Given the description of an element on the screen output the (x, y) to click on. 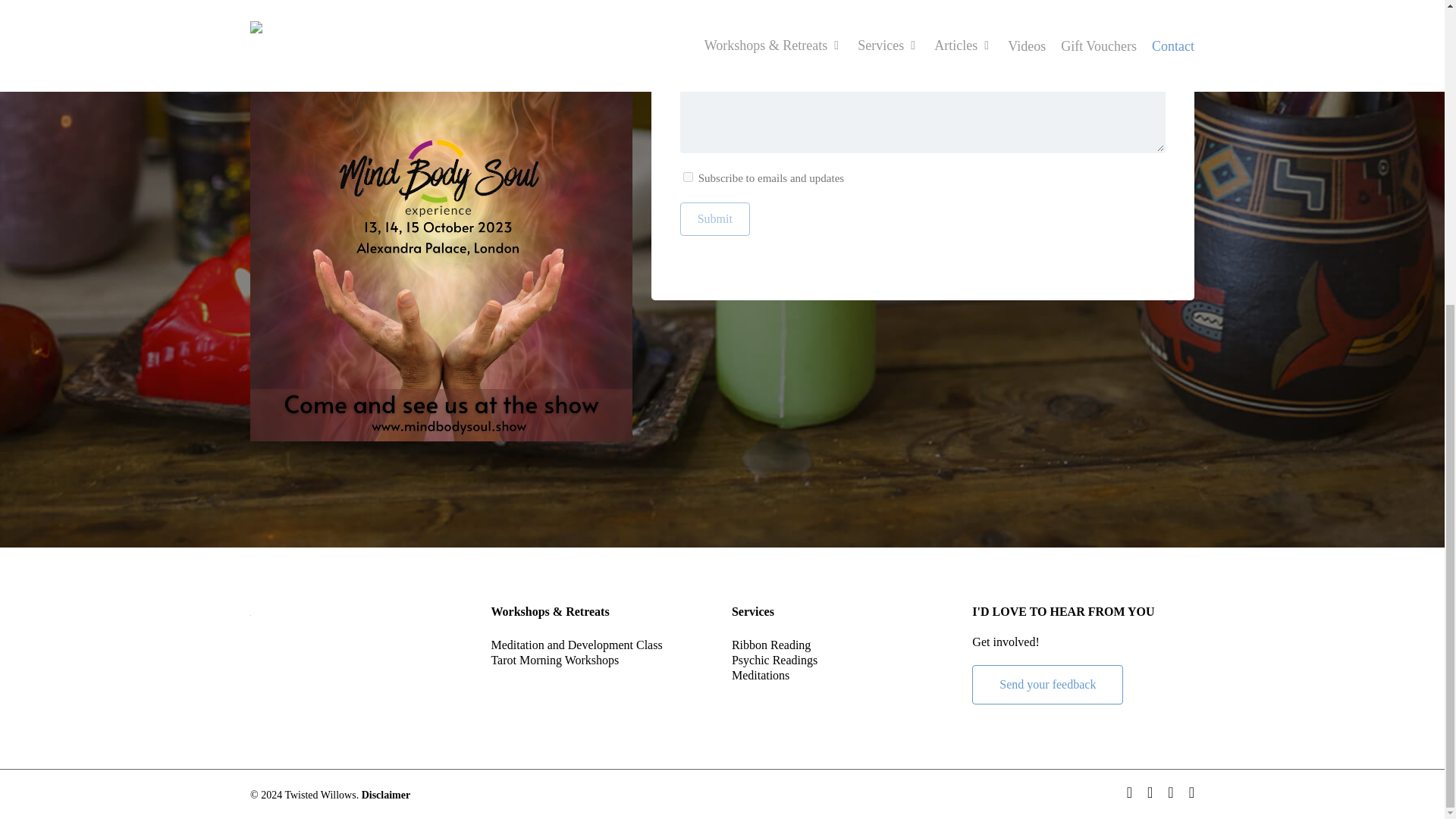
Send your feedback (1047, 684)
Subscribe to emails and updates (687, 176)
Disclaimer (385, 794)
Meditations (842, 675)
Psychic Readings (842, 660)
Ribbon Reading (842, 645)
Tarot Morning Workshops (601, 660)
Submit (714, 218)
Submit (714, 218)
Meditation and Development Class (601, 645)
